Given the description of an element on the screen output the (x, y) to click on. 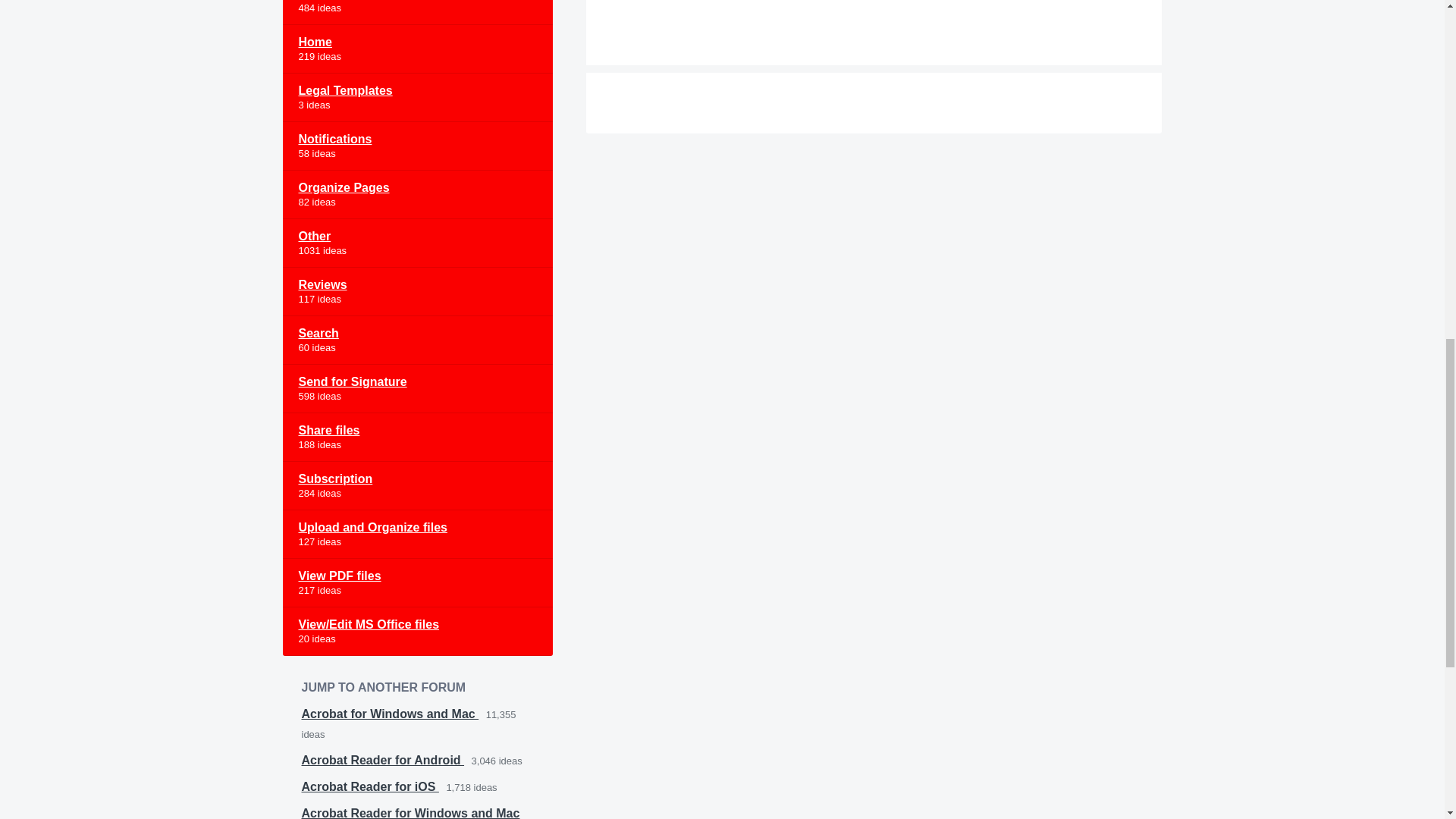
View all ideas in category Legal Templates (417, 97)
Legal Templates (417, 97)
View all ideas in category Other (417, 243)
Notifications (417, 146)
Subscription (417, 485)
Search (417, 340)
Acrobat Reader for Android (382, 759)
Home (417, 49)
Upload and Organize files (417, 534)
Reviews (417, 291)
